Given the description of an element on the screen output the (x, y) to click on. 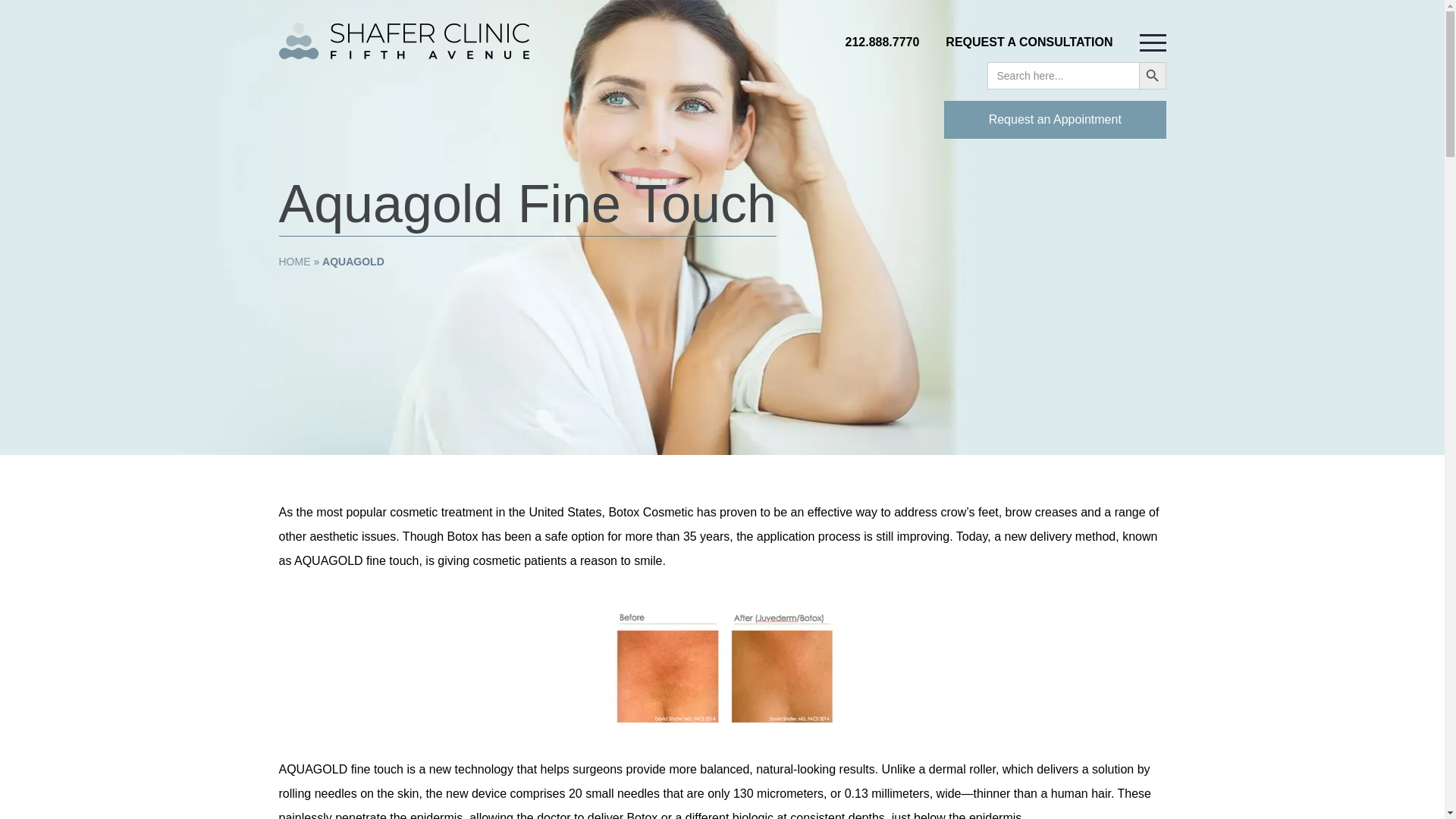
Screen Shot 2014-07-11 at 3.17.02 PM (721, 665)
